Given the description of an element on the screen output the (x, y) to click on. 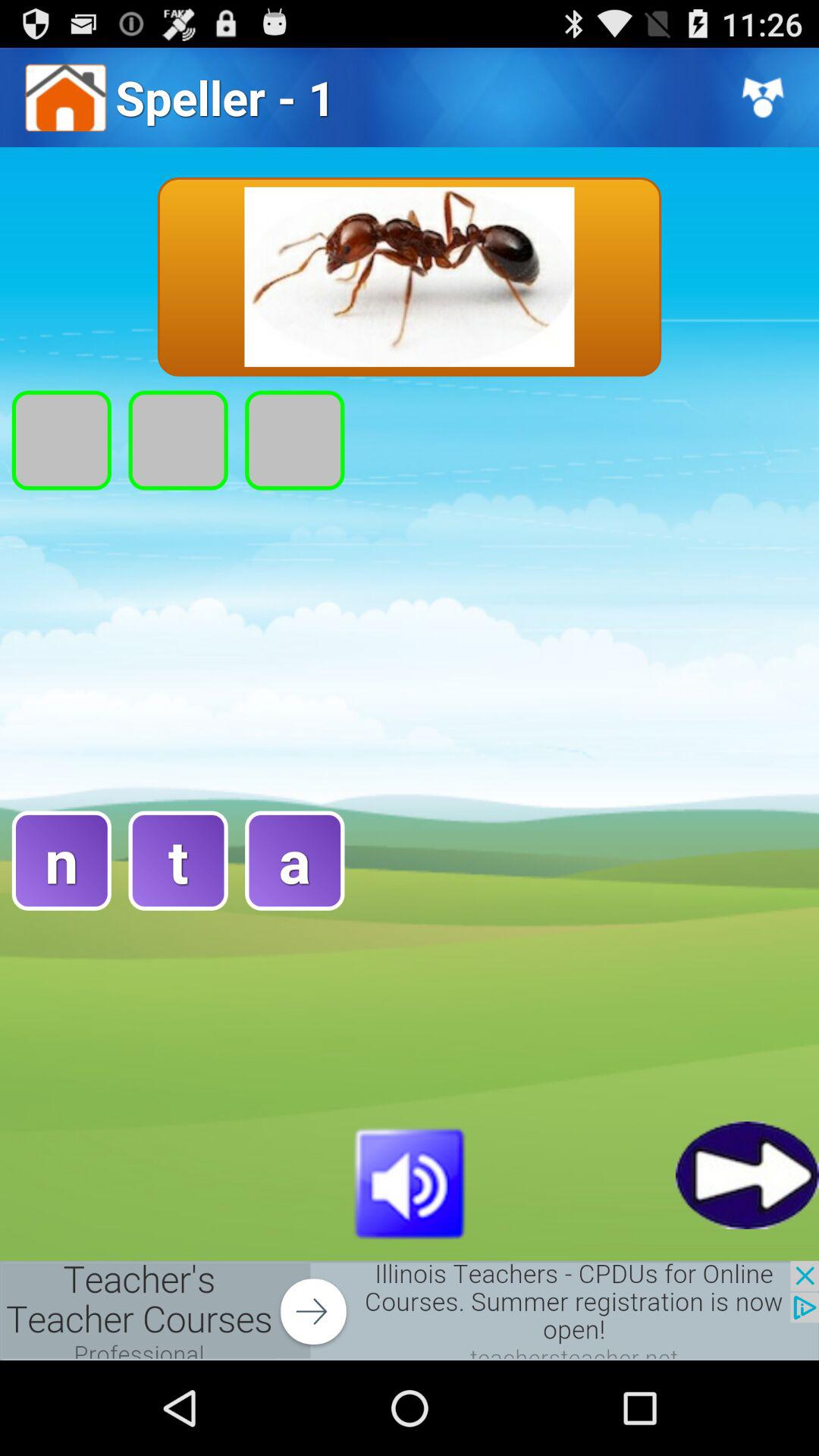
open the advertisement link (409, 1310)
